Given the description of an element on the screen output the (x, y) to click on. 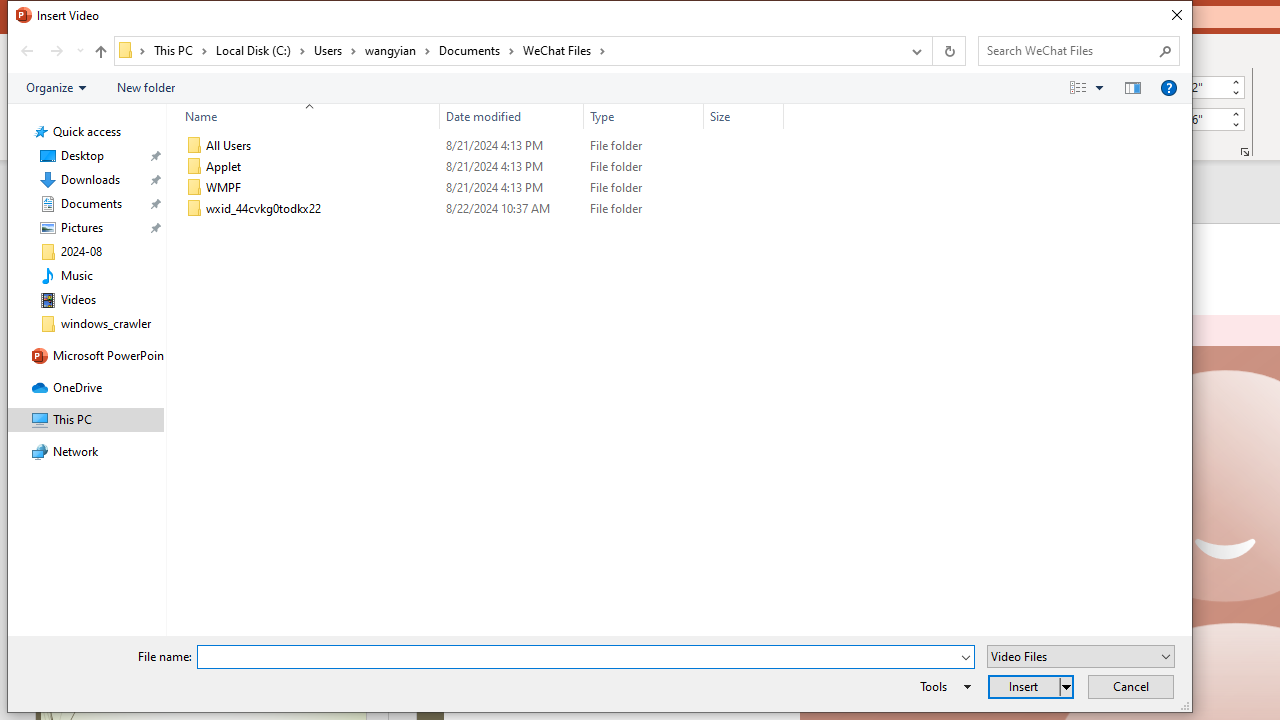
Preview pane (1132, 87)
Search Box (1069, 50)
Files of type: (1080, 656)
View Slider (1099, 87)
New folder (145, 87)
Recent locations (79, 51)
Date modified (511, 209)
Refresh "WeChat Files" (F5) (948, 51)
Tools (942, 686)
Search (1165, 50)
File name: (577, 657)
Navigation buttons (50, 51)
Up band toolbar (100, 54)
